Given the description of an element on the screen output the (x, y) to click on. 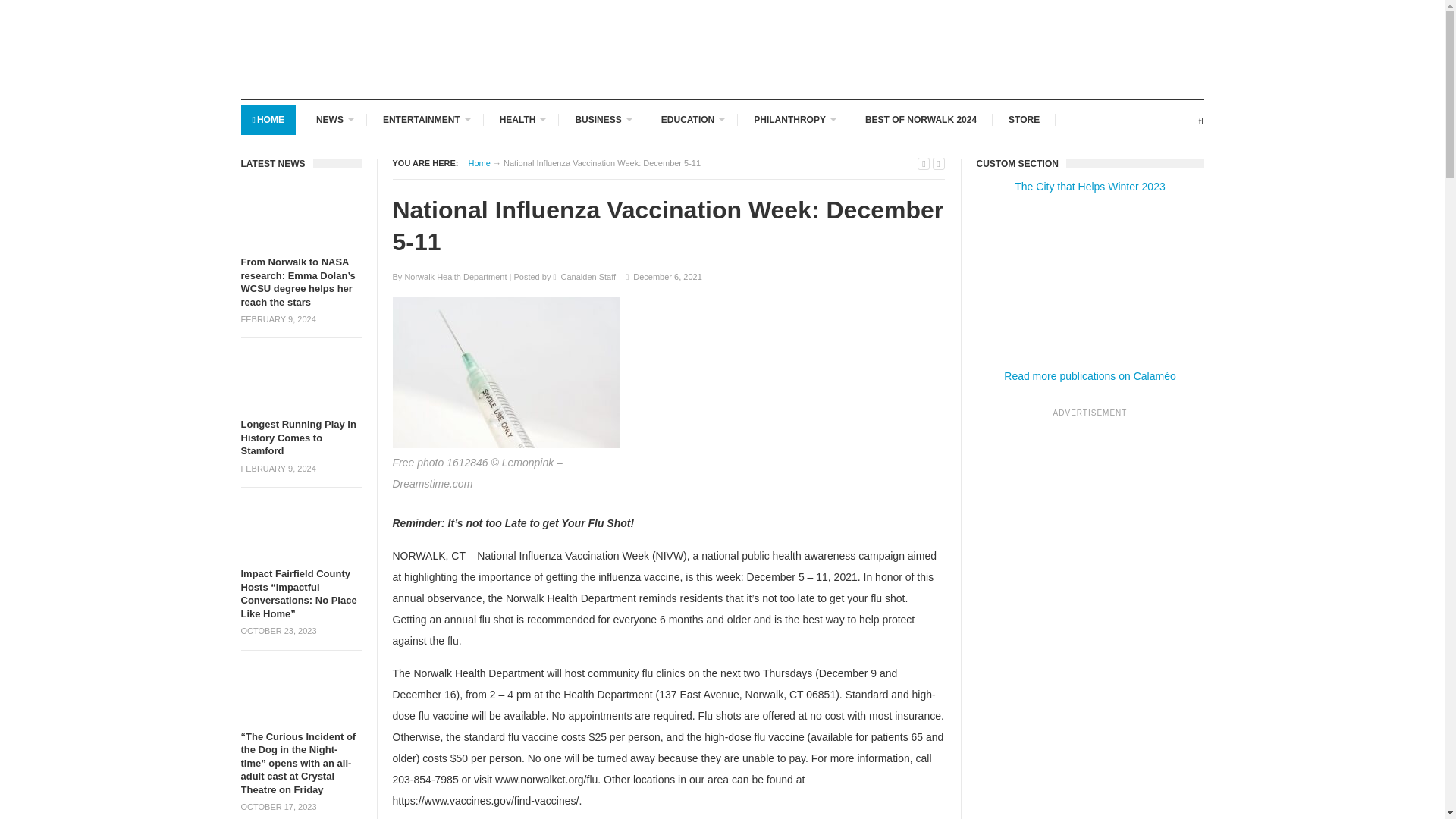
Home (479, 162)
EDUCATION (691, 119)
ENTERTAINMENT (425, 119)
HEALTH (520, 119)
PHILANTHROPY (793, 119)
HOME (268, 119)
STORE (1024, 119)
BEST OF NORWALK 2024 (920, 119)
BUSINESS (601, 119)
Canaiden Staff (587, 276)
